Given the description of an element on the screen output the (x, y) to click on. 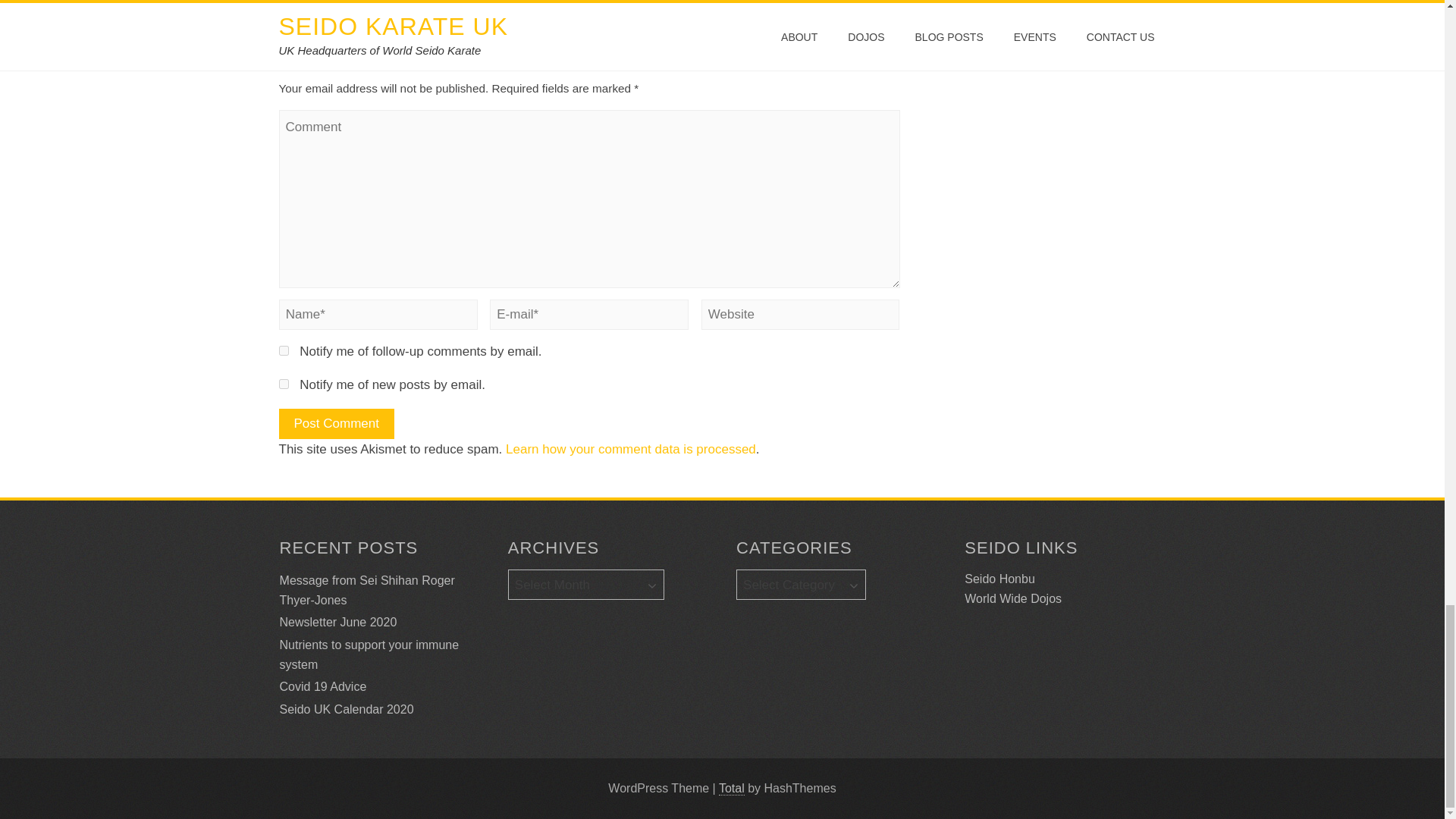
subscribe (283, 350)
Learn how your comment data is processed (630, 449)
Post Comment (336, 423)
Post Comment (336, 423)
Message from Sei Shihan Roger Thyer-Jones (366, 590)
Newsletter June 2020 (338, 621)
Nutrients to support your immune system (369, 654)
subscribe (283, 384)
